Given the description of an element on the screen output the (x, y) to click on. 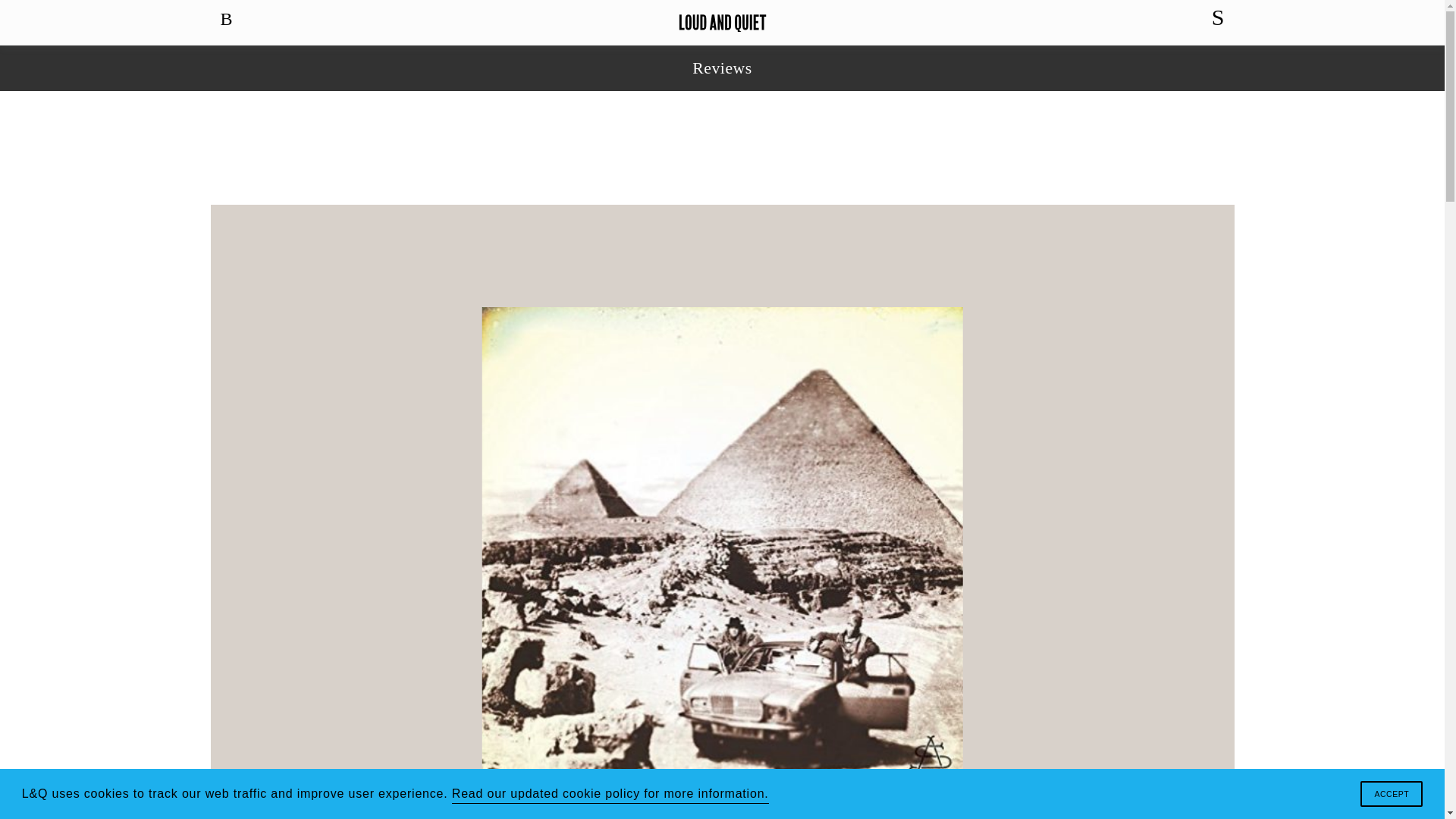
ACCEPT (1390, 793)
Loud And Quiet (721, 22)
3rd party ad content (722, 147)
Loud And Quiet (721, 22)
Read our updated cookie policy for more information. (609, 793)
